Given the description of an element on the screen output the (x, y) to click on. 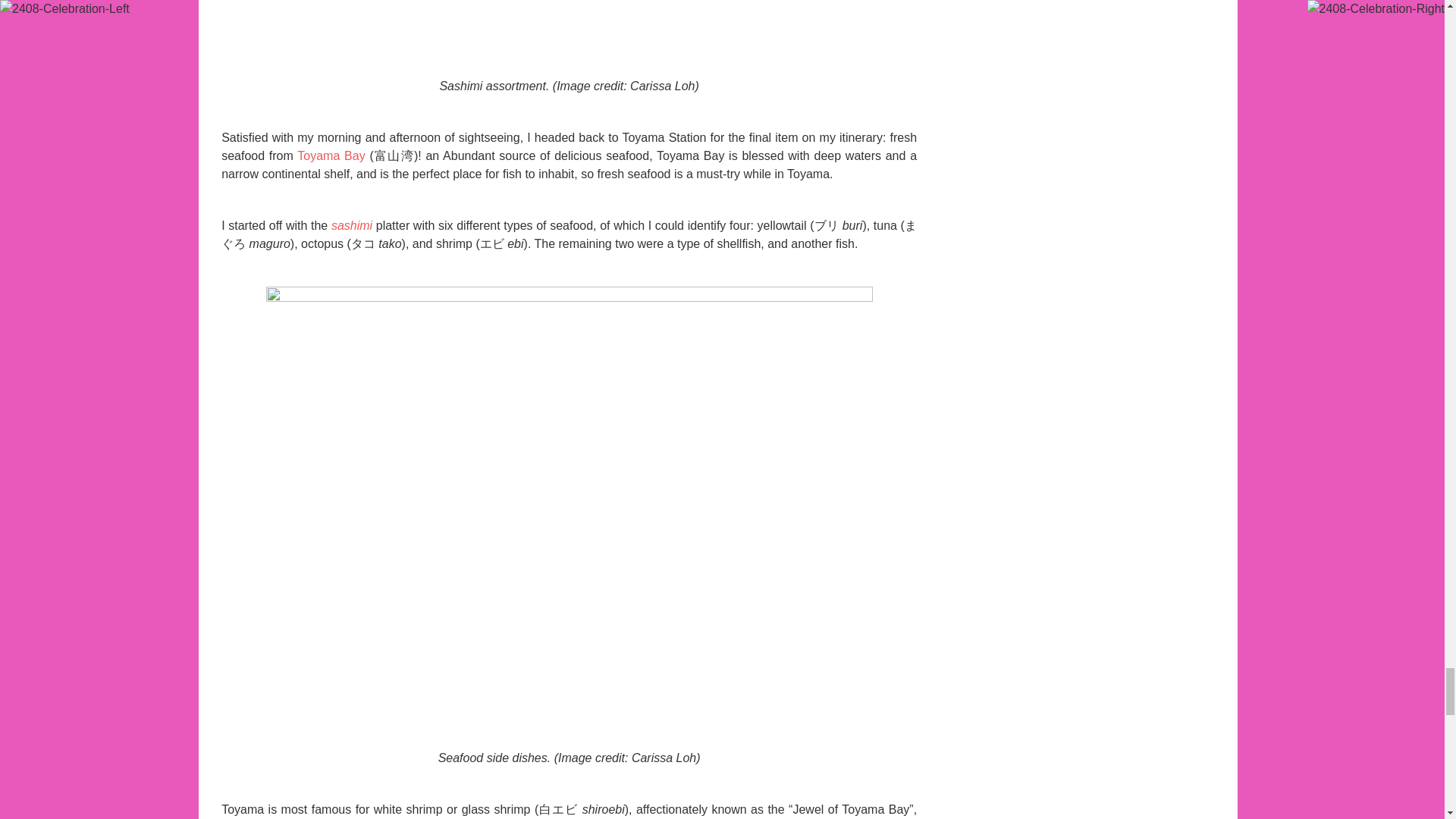
Toyama Bay (331, 155)
sashimi (351, 225)
